Given the description of an element on the screen output the (x, y) to click on. 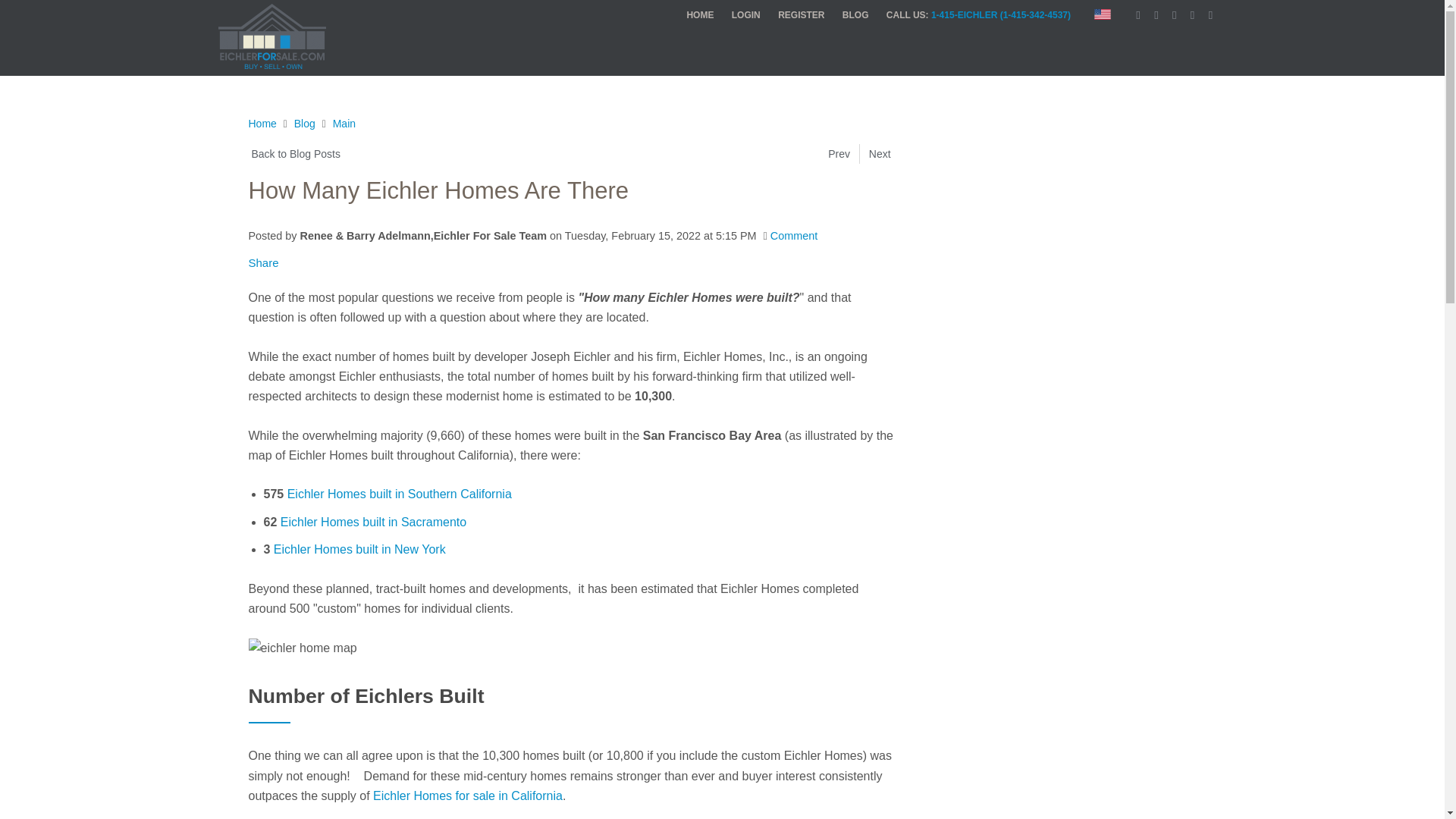
REGISTER (800, 14)
BLOG (856, 14)
map of eichler homes in california (302, 648)
HOME (699, 14)
LOGIN (746, 14)
